Given the description of an element on the screen output the (x, y) to click on. 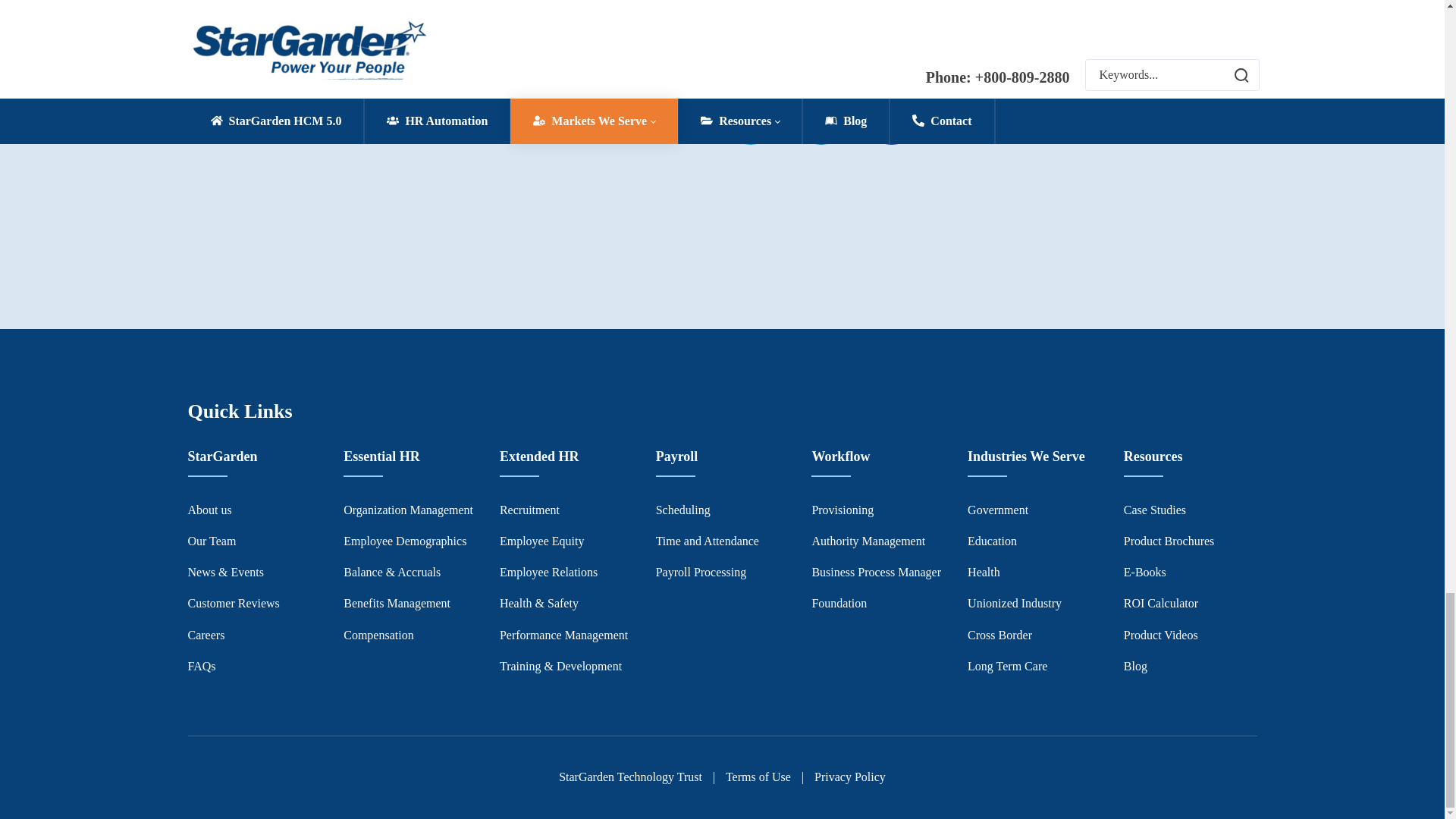
fbook (890, 116)
Form 0 (443, 129)
About us (209, 509)
twitter (749, 116)
StarGarden (222, 456)
linkedin (820, 116)
Customer Reviews (233, 603)
Careers (206, 634)
Our Team (211, 540)
